Given the description of an element on the screen output the (x, y) to click on. 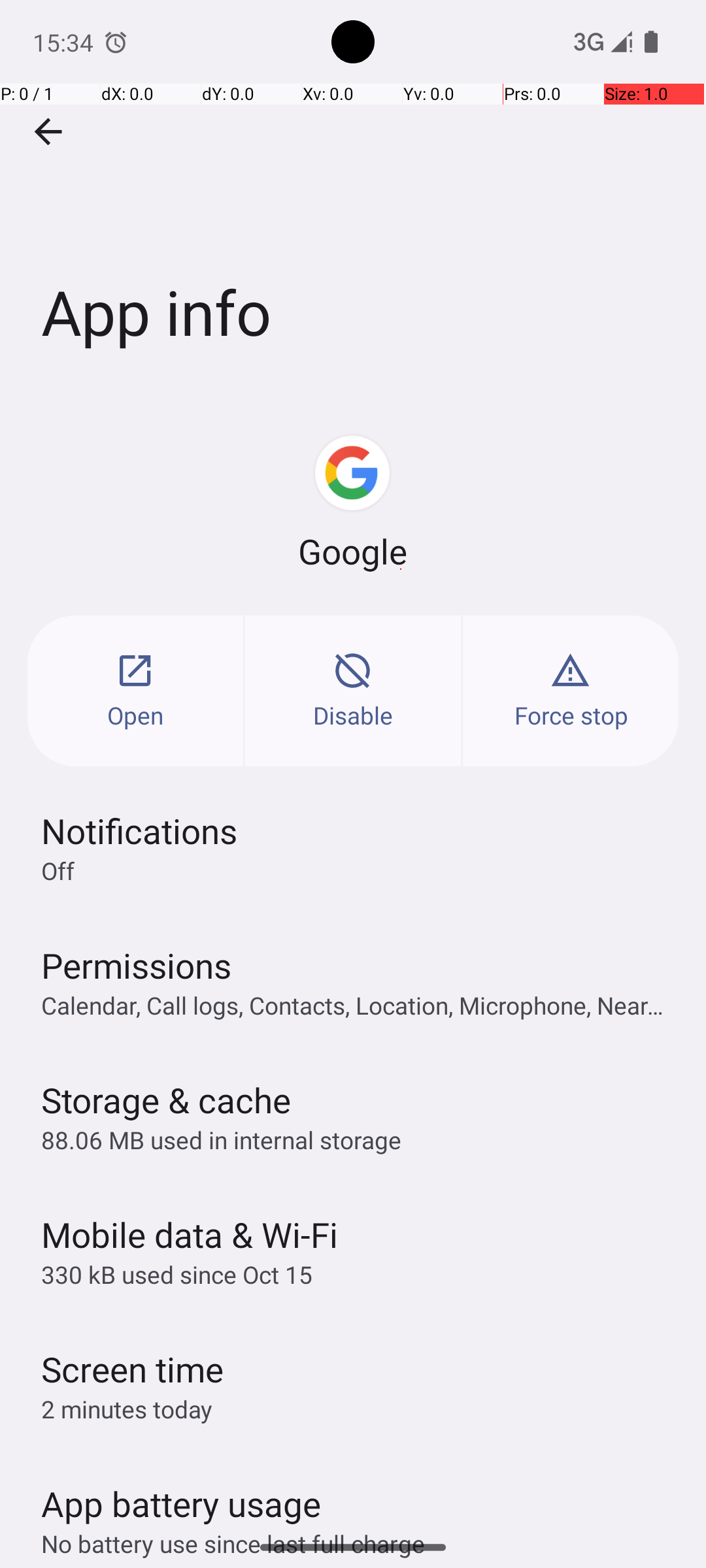
Calendar, Call logs, Contacts, Location, Microphone, Nearby devices, Phone, and SMS Element type: android.widget.TextView (359, 1004)
88.06 MB used in internal storage Element type: android.widget.TextView (221, 1139)
330 kB used since Oct 15 Element type: android.widget.TextView (176, 1273)
2 minutes today Element type: android.widget.TextView (127, 1408)
